Given the description of an element on the screen output the (x, y) to click on. 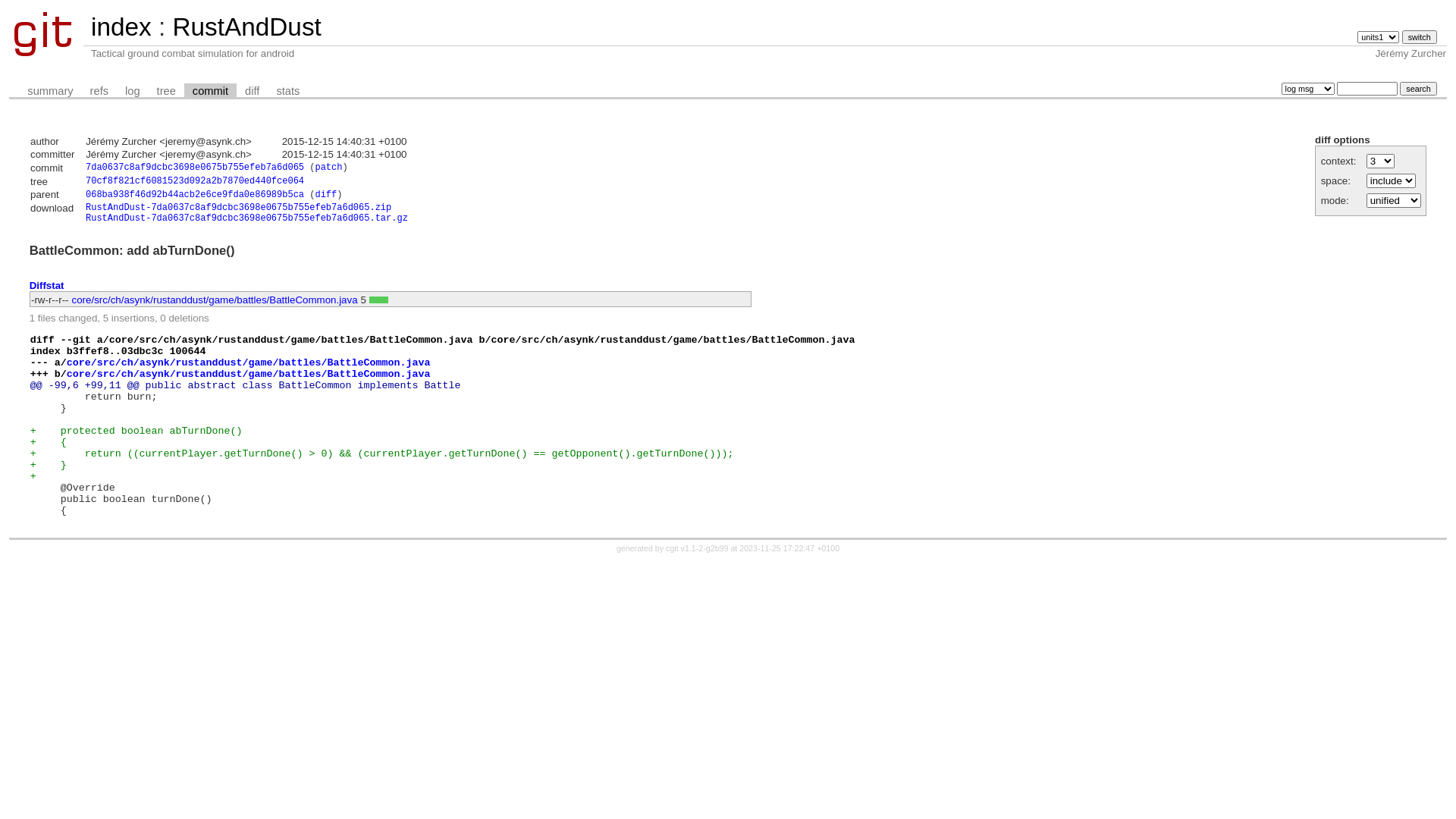
diff Element type: text (251, 90)
switch Element type: text (1419, 36)
refs Element type: text (98, 90)
diff Element type: text (325, 194)
7da0637c8af9dcbc3698e0675b755efeb7a6d065 Element type: text (194, 167)
tree Element type: text (166, 90)
commit Element type: text (210, 90)
core/src/ch/asynk/rustanddust/game/battles/BattleCommon.java Element type: text (248, 362)
index Element type: text (121, 26)
RustAndDust-7da0637c8af9dcbc3698e0675b755efeb7a6d065.tar.gz Element type: text (246, 218)
Diffstat Element type: text (46, 285)
core/src/ch/asynk/rustanddust/game/battles/BattleCommon.java Element type: text (248, 373)
cgit v1.1-2-g2b99 Element type: text (696, 547)
patch Element type: text (328, 167)
log Element type: text (132, 90)
summary Element type: text (49, 90)
70cf8f821cf6081523d092a2b7870ed440fce064 Element type: text (194, 180)
RustAndDust-7da0637c8af9dcbc3698e0675b755efeb7a6d065.zip Element type: text (238, 207)
core/src/ch/asynk/rustanddust/game/battles/BattleCommon.java Element type: text (214, 299)
RustAndDust Element type: text (246, 26)
stats Element type: text (287, 90)
068ba938f46d92b44acb2e6ce9fda0e86989b5ca Element type: text (194, 194)
search Element type: text (1417, 88)
